Given the description of an element on the screen output the (x, y) to click on. 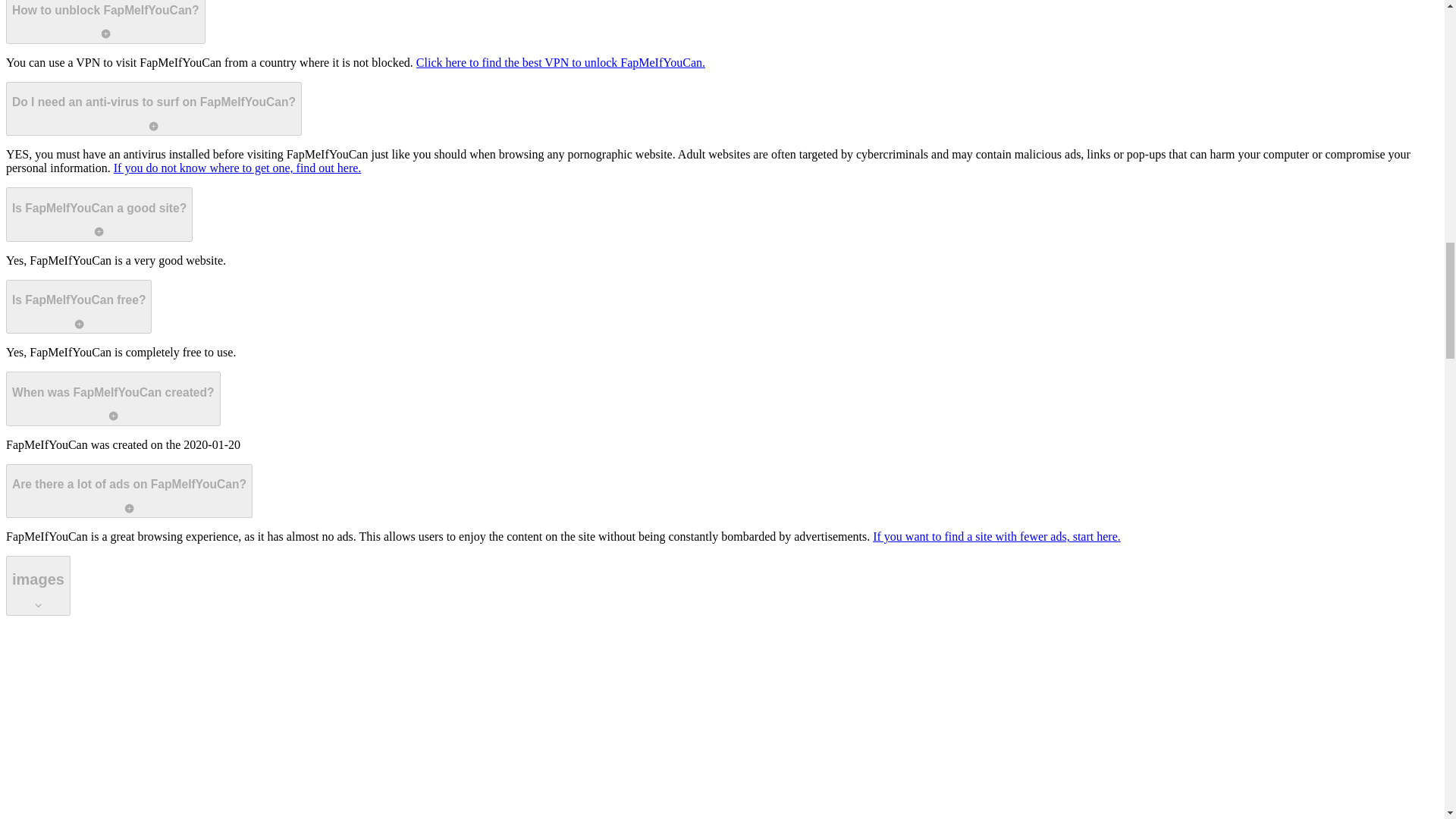
Click here to find the best VPN to unlock FapMeIfYouCan. (560, 62)
Is FapMeIfYouCan a good site? (98, 214)
Is FapMeIfYouCan free? (78, 307)
Are there a lot of ads on FapMeIfYouCan? (128, 491)
When was FapMeIfYouCan created? (113, 398)
Do I need an anti-virus to surf on FapMeIfYouCan? (153, 108)
If you do not know where to get one, find out here. (237, 167)
How to unblock FapMeIfYouCan? (105, 22)
